Given the description of an element on the screen output the (x, y) to click on. 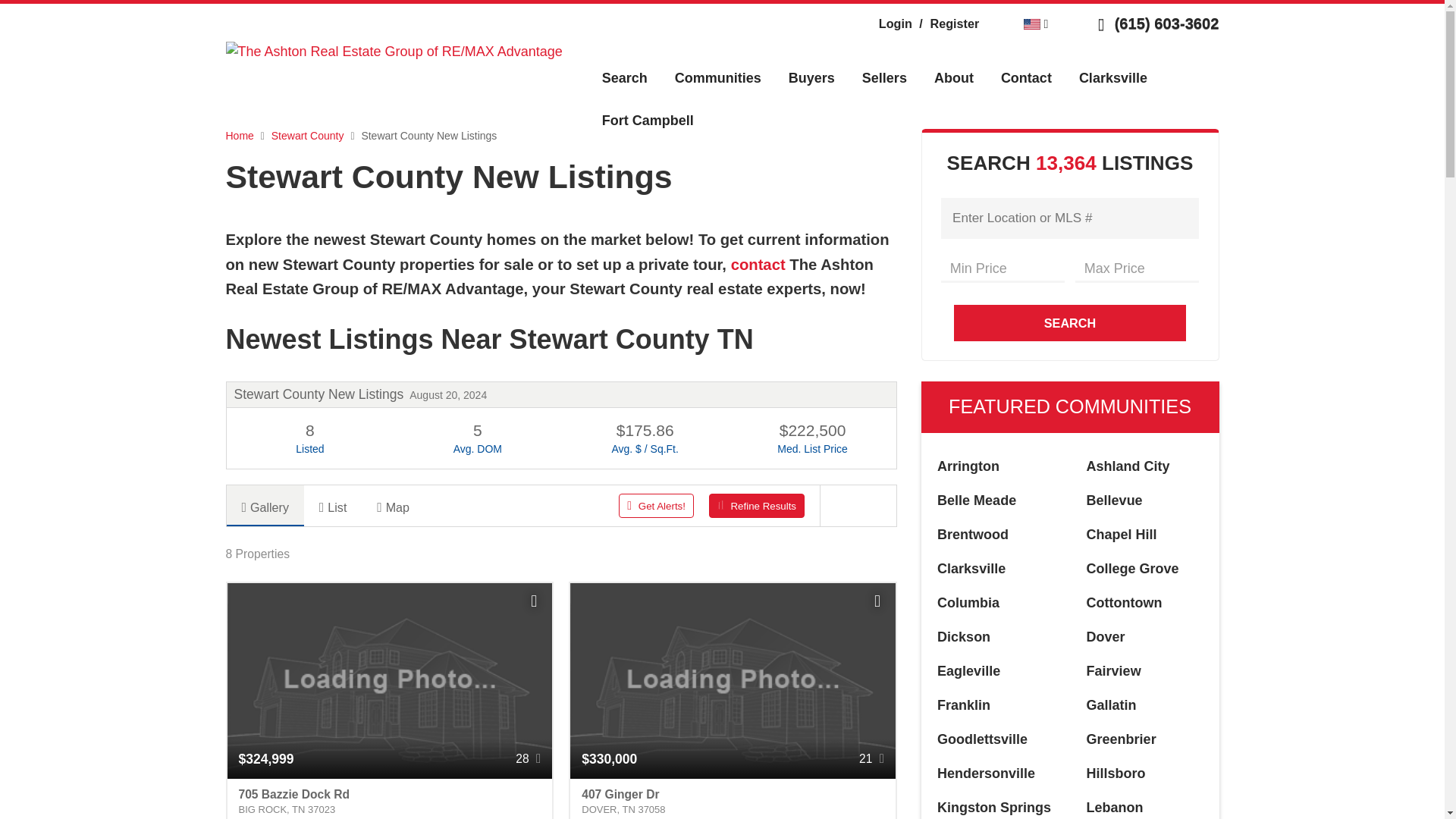
407 Ginger Dr Dover,  TN 37058 (732, 798)
Buyers (811, 77)
Communities (717, 77)
Home Page (393, 50)
Newest Listings Near Stewart County TN (561, 339)
Search (624, 77)
705 Bazzie Dock Rd Big Rock,  TN 37023 (390, 798)
Sellers (884, 77)
Register (946, 23)
Login (895, 23)
